Given the description of an element on the screen output the (x, y) to click on. 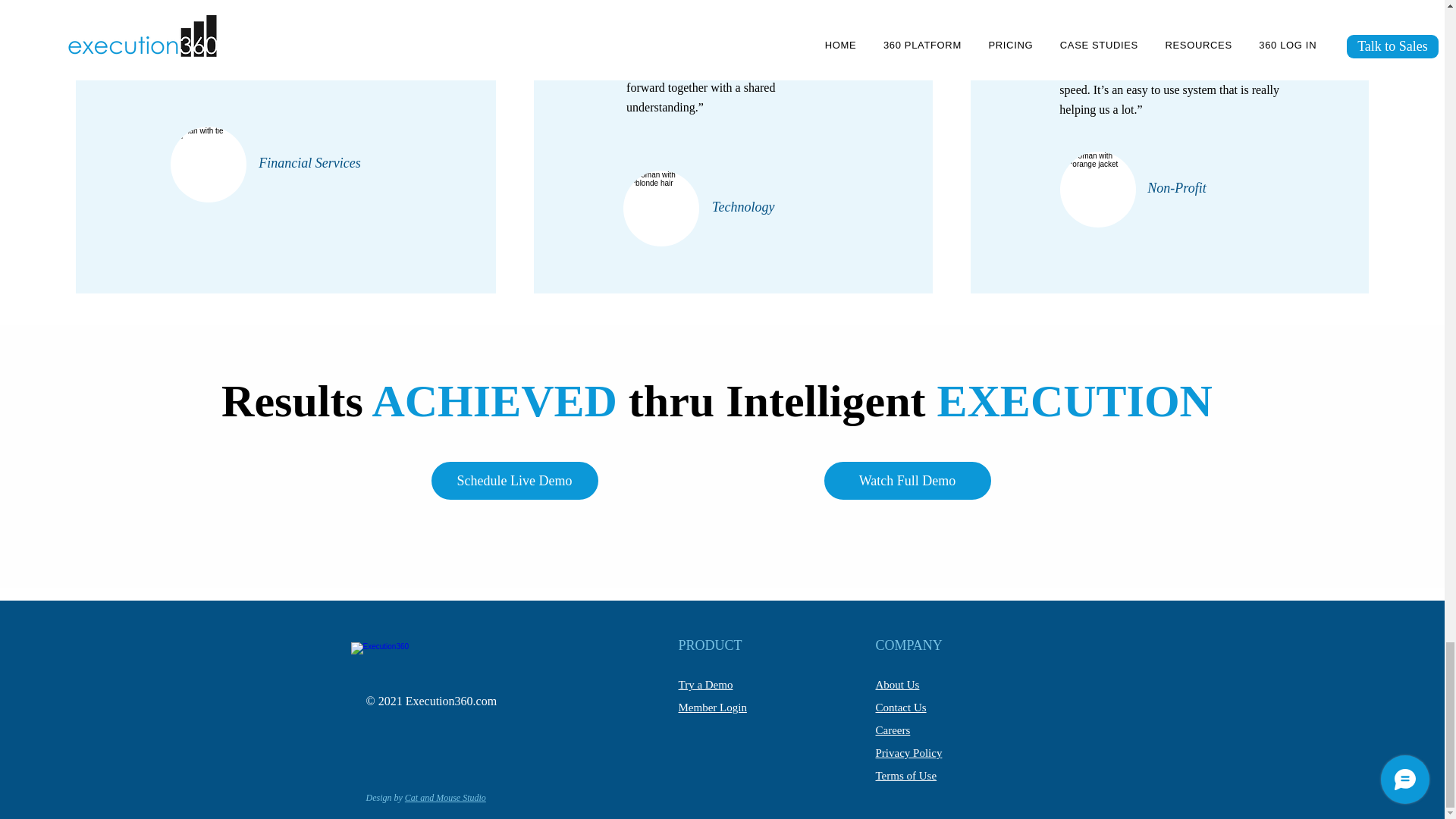
Watch Full Demo (907, 480)
About Us (896, 684)
Careers (892, 729)
Cat and Mouse Studio (445, 797)
Contact Us (900, 707)
Privacy Policy (908, 752)
Member Login (711, 707)
Schedule Live Demo (513, 480)
Terms of Use (905, 775)
Try a Demo (705, 684)
